Given the description of an element on the screen output the (x, y) to click on. 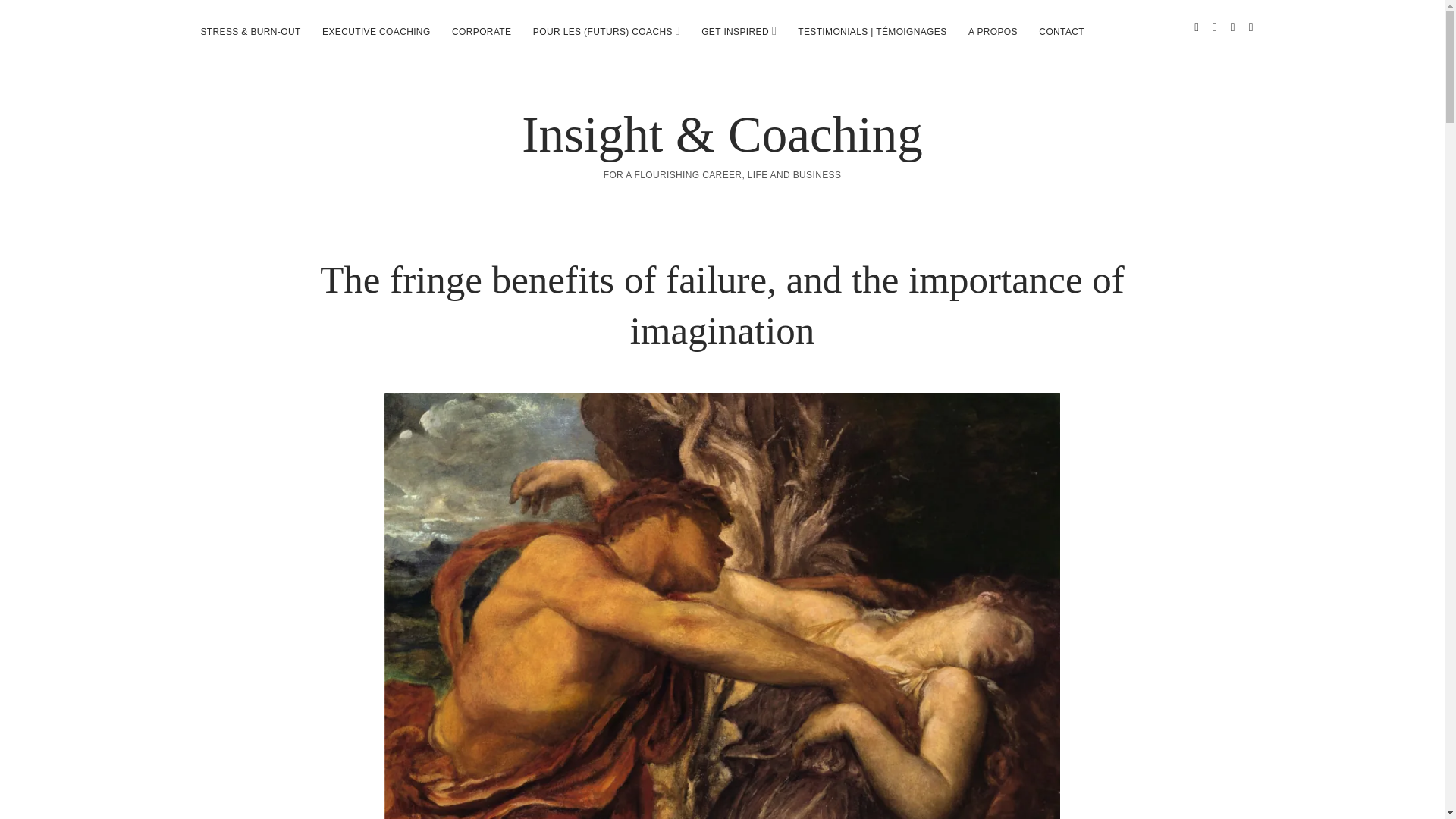
EXECUTIVE COACHING (376, 31)
CONTACT (1061, 31)
CORPORATE (480, 31)
A PROPOS (992, 31)
GET INSPIRED (735, 31)
